Given the description of an element on the screen output the (x, y) to click on. 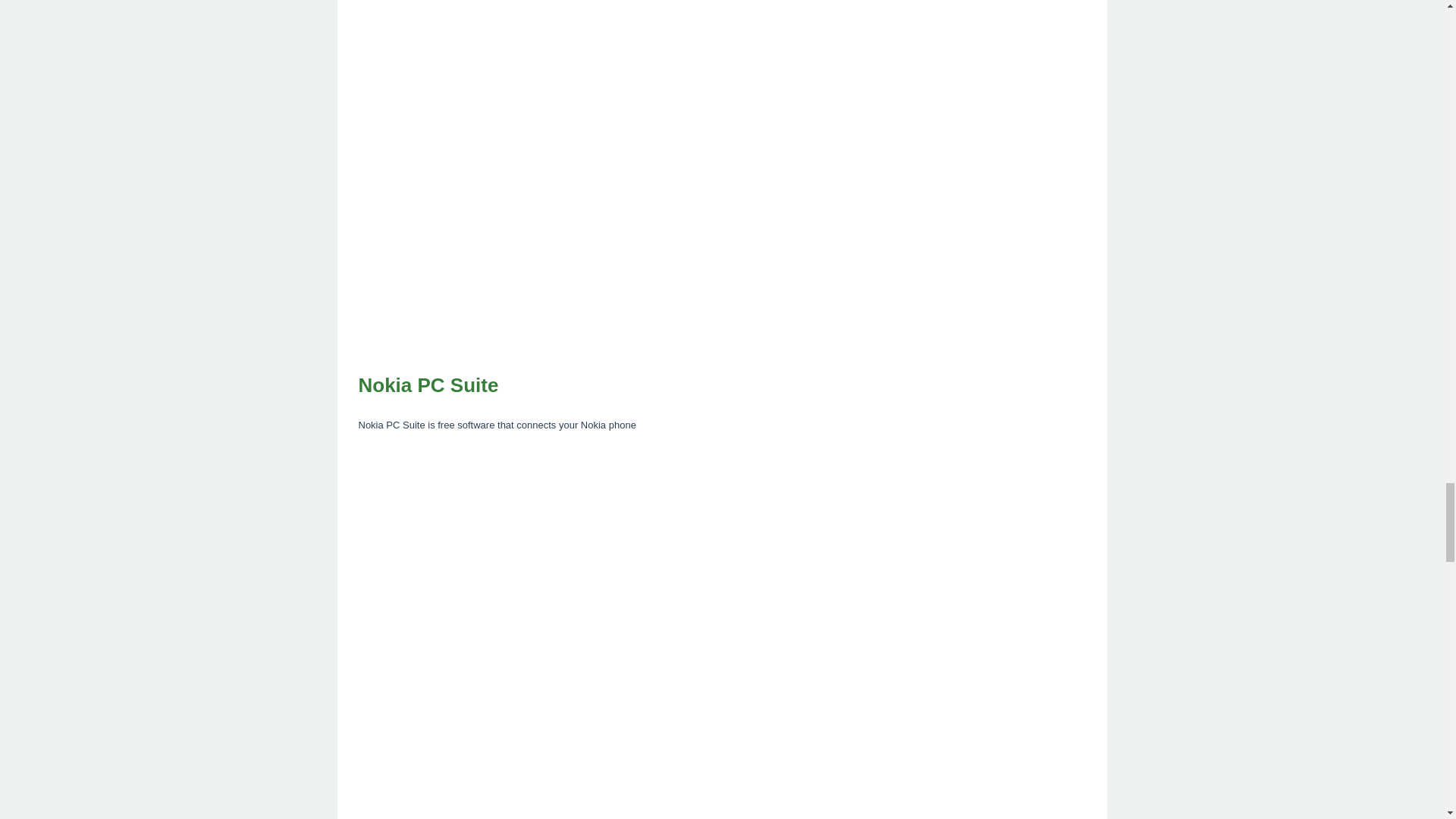
Nokia PC Suite (722, 386)
